Given the description of an element on the screen output the (x, y) to click on. 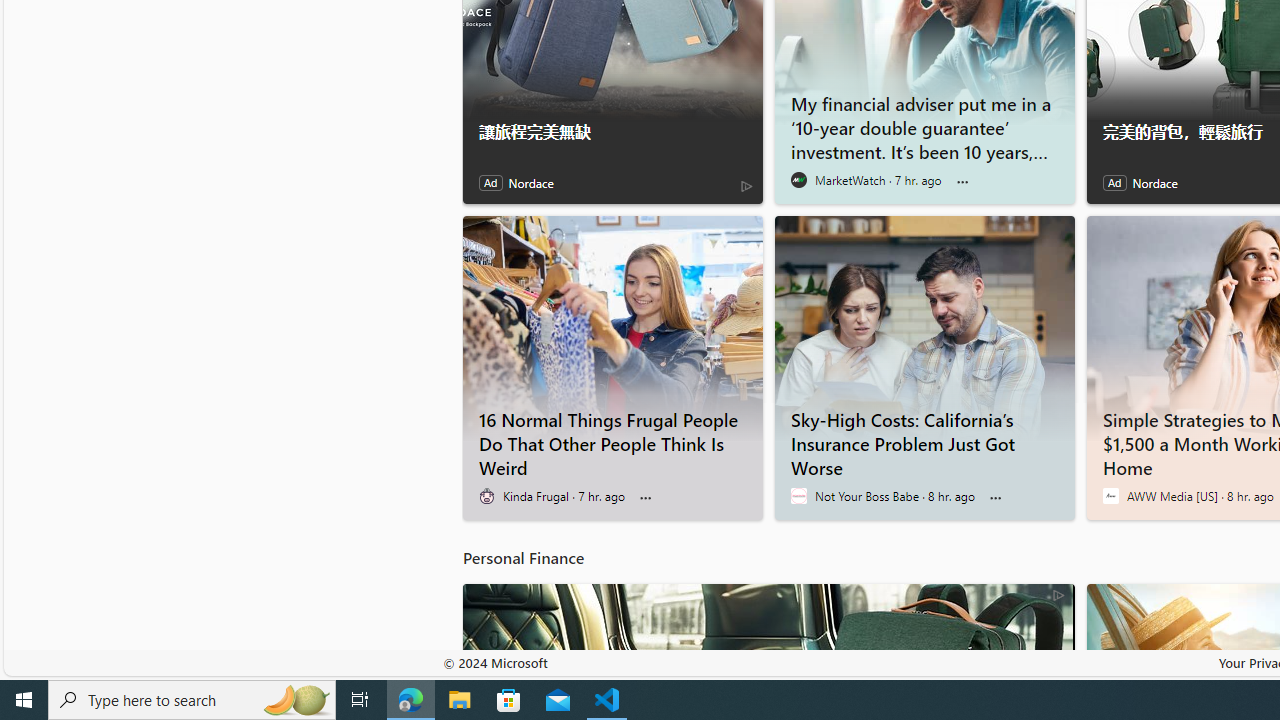
AdChoices (1058, 593)
